Given the description of an element on the screen output the (x, y) to click on. 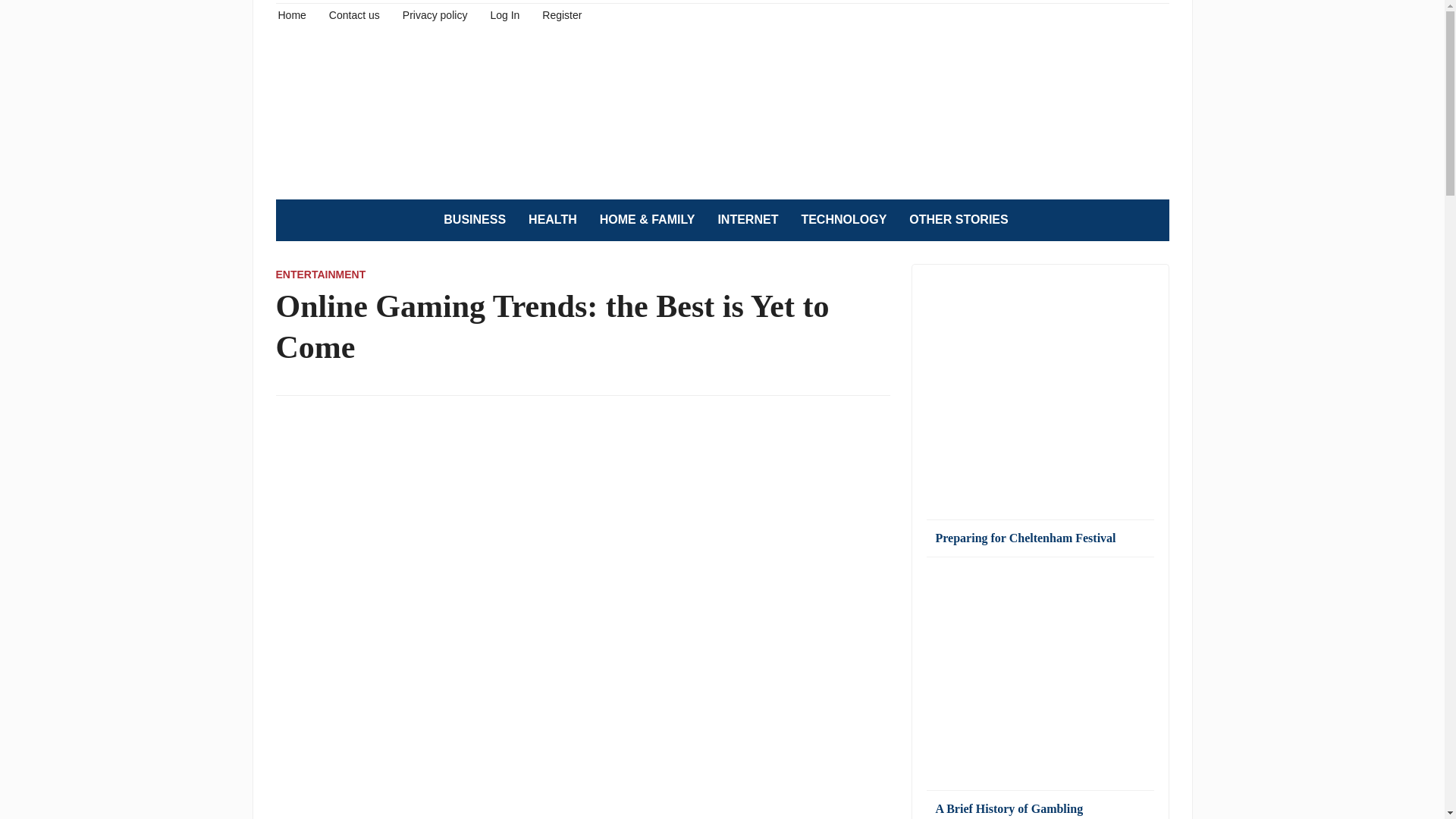
Log In (504, 14)
Search (1149, 219)
Privacy policy (435, 14)
Home (291, 14)
Contact us (354, 14)
Register (560, 14)
